Given the description of an element on the screen output the (x, y) to click on. 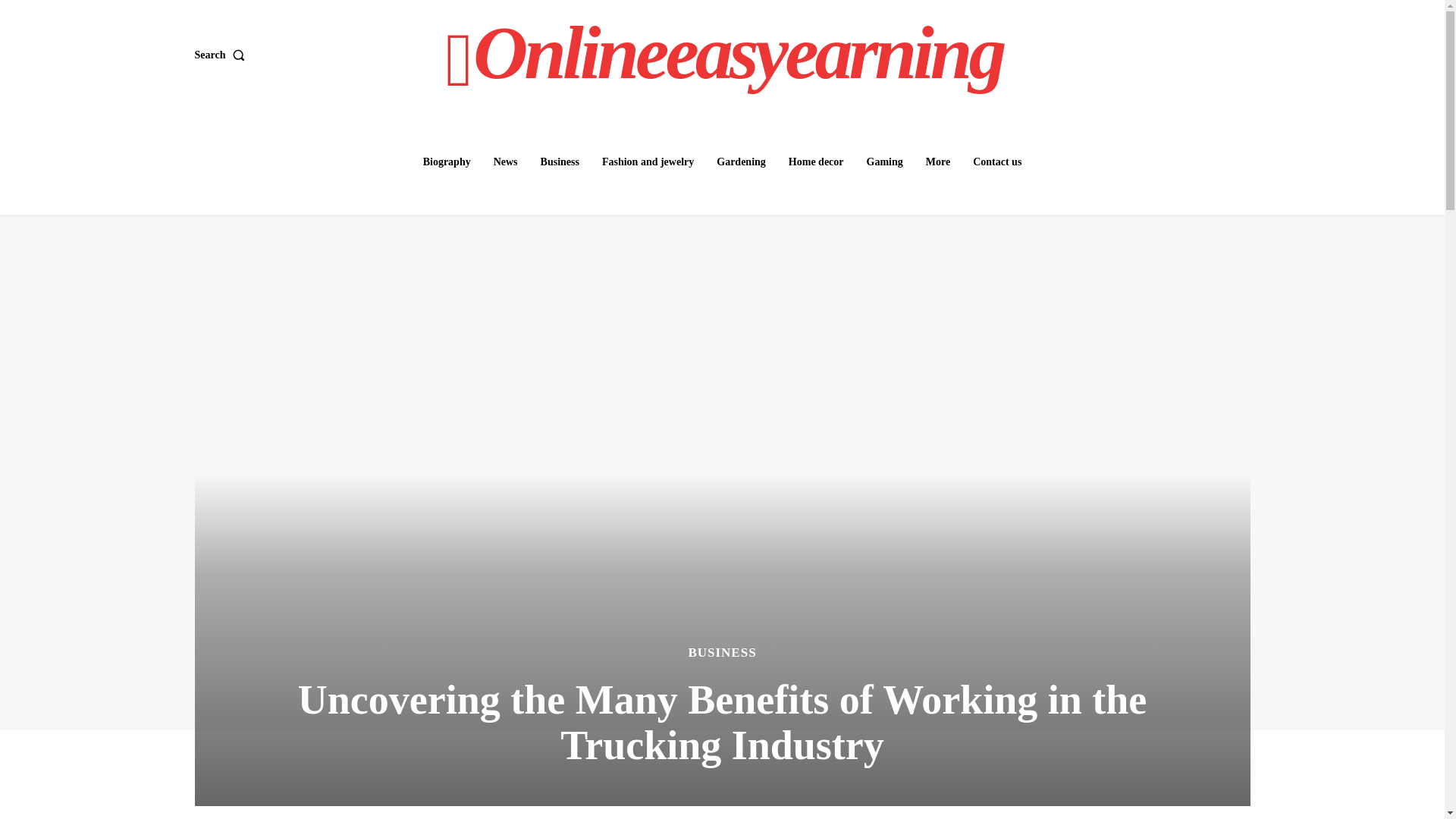
Search (221, 55)
News (505, 162)
Biography (446, 162)
Business (559, 162)
Home decor (815, 162)
Onlineeasyearning (724, 53)
More (938, 162)
Gardening (741, 162)
Gaming (885, 162)
Fashion and jewelry (647, 162)
